Given the description of an element on the screen output the (x, y) to click on. 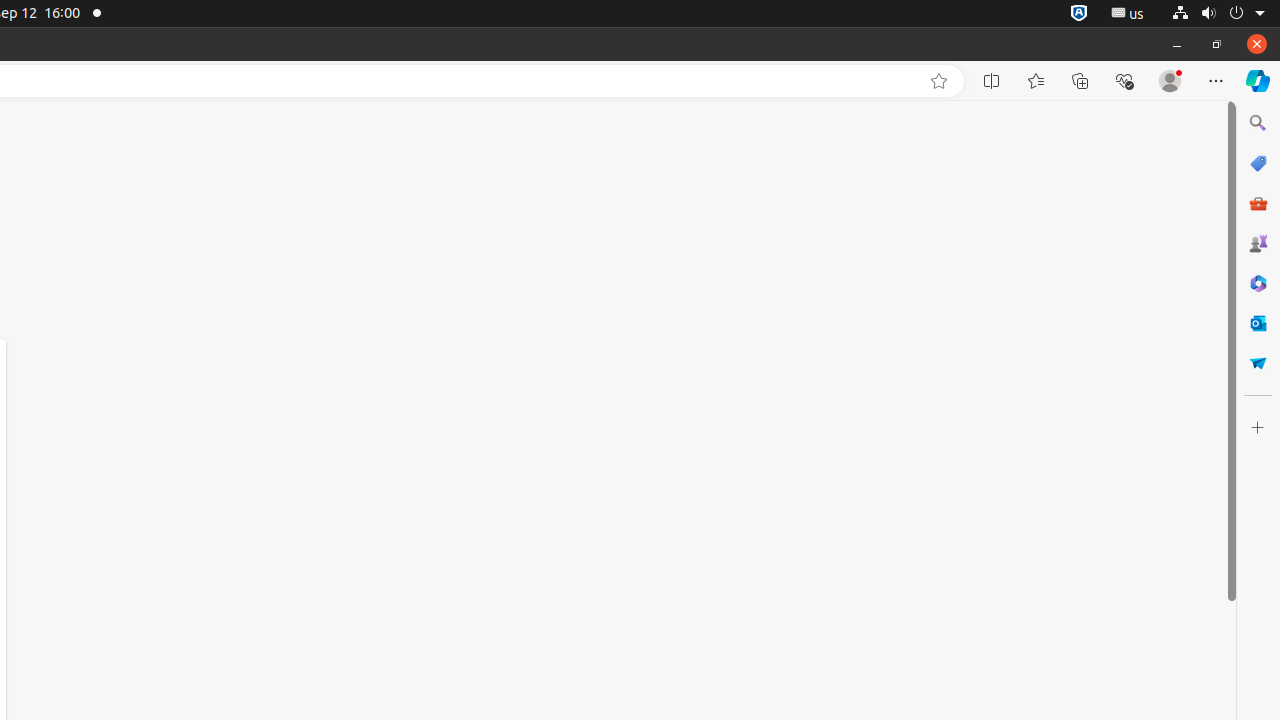
Add this page to favorites (Ctrl+D) Element type: push-button (939, 81)
Search Element type: push-button (1258, 123)
Tools Element type: push-button (1258, 202)
Settings and more (Alt+F) Element type: push-button (1216, 81)
Profile 1 Profile, Please sign in Element type: push-button (1170, 81)
